Given the description of an element on the screen output the (x, y) to click on. 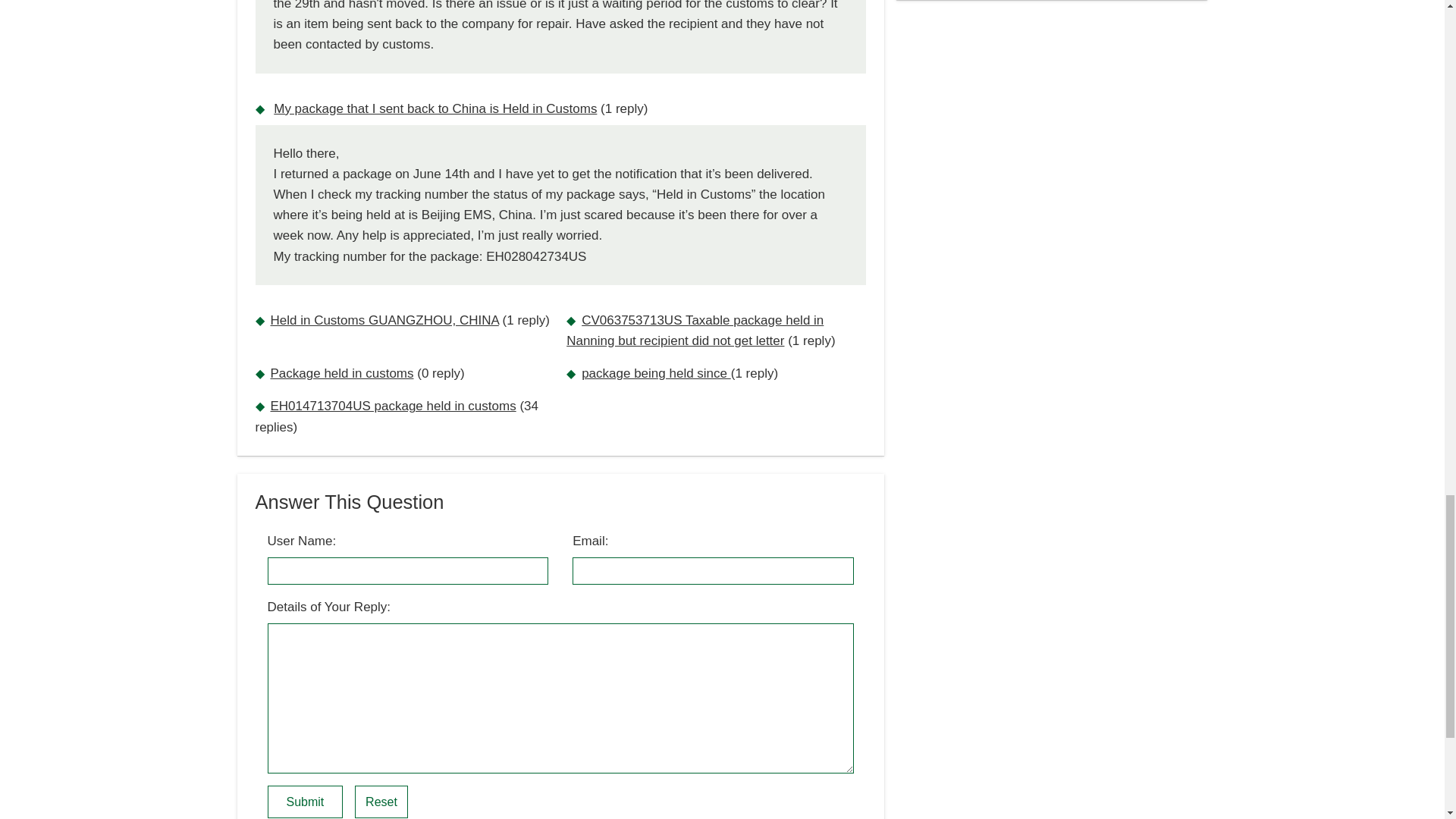
EH014713704US package held in customs (392, 405)
Held in Customs GUANGZHOU, CHINA (383, 319)
Held in Customs GUANGZHOU, CHINA (383, 319)
My package that I sent back to China is Held in Customs (434, 108)
My package that I sent back to China is Held in Customs (434, 108)
package being held since  (655, 373)
Package held in customs (341, 373)
